Given the description of an element on the screen output the (x, y) to click on. 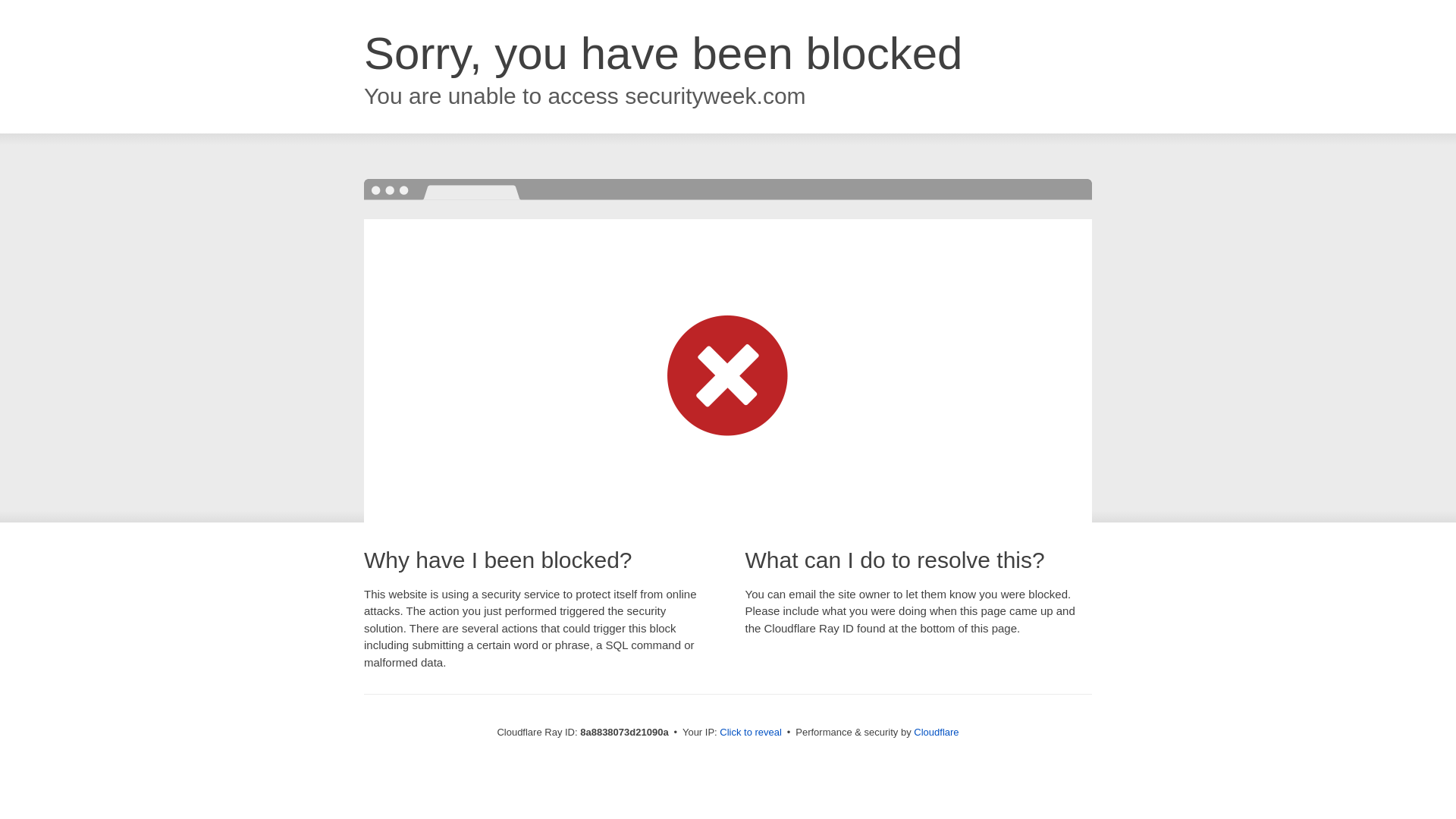
Cloudflare (936, 731)
Click to reveal (750, 732)
